Given the description of an element on the screen output the (x, y) to click on. 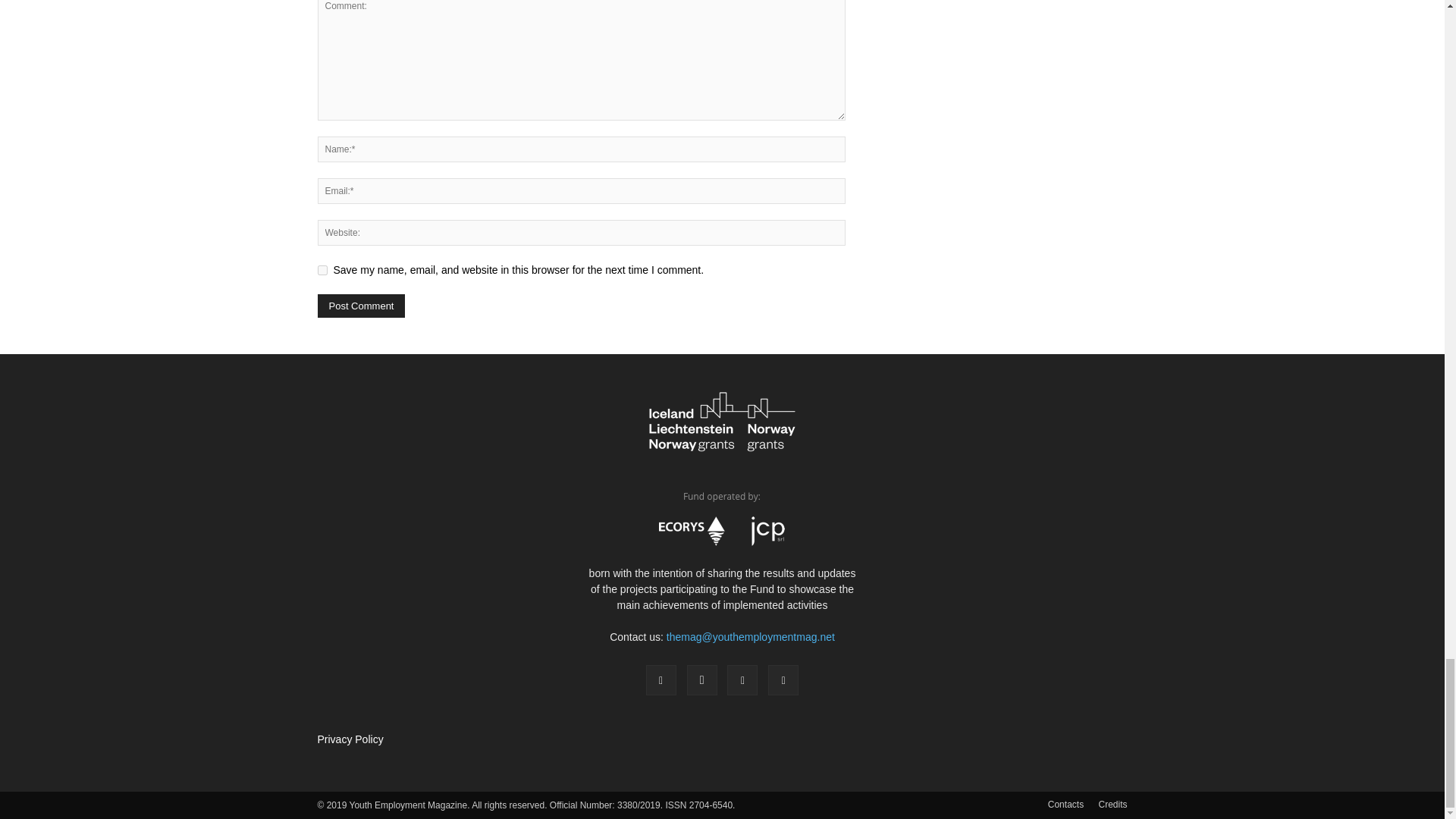
Post Comment (360, 305)
yes (321, 270)
Facebook (661, 680)
